Given the description of an element on the screen output the (x, y) to click on. 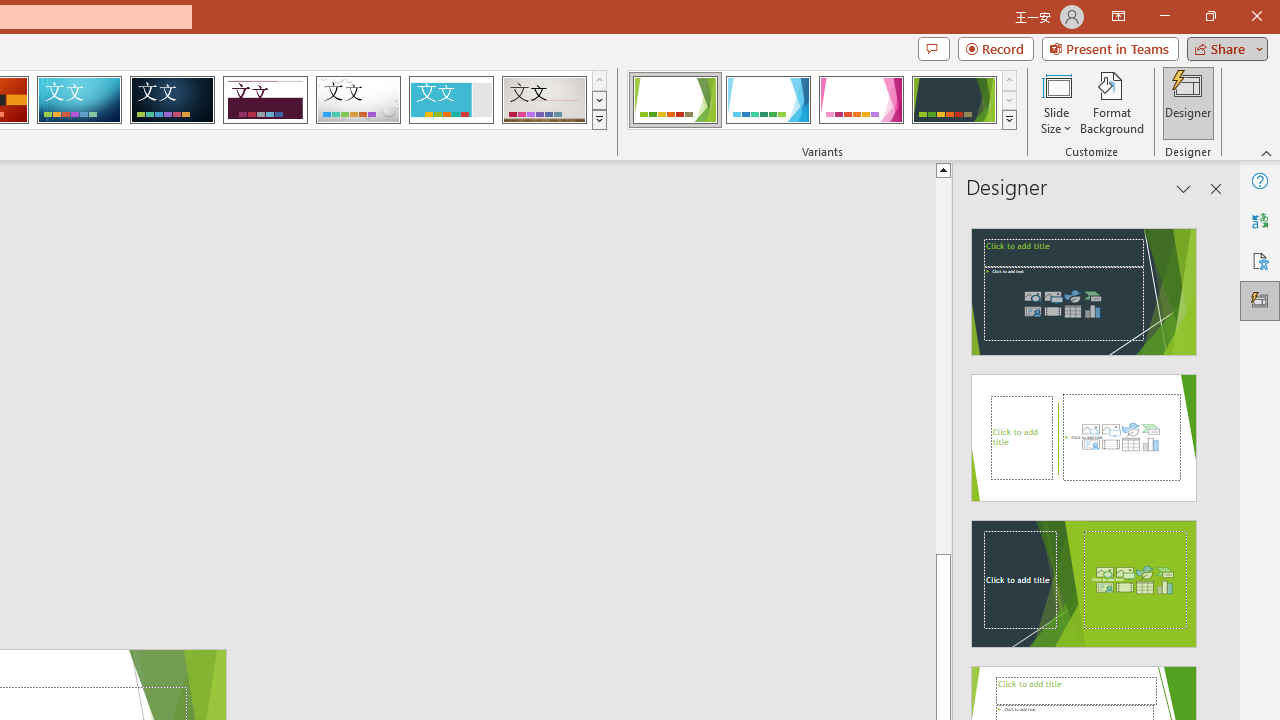
Gallery (544, 100)
Facet Variant 4 (953, 100)
Variants (1009, 120)
Damask (171, 100)
